Given the description of an element on the screen output the (x, y) to click on. 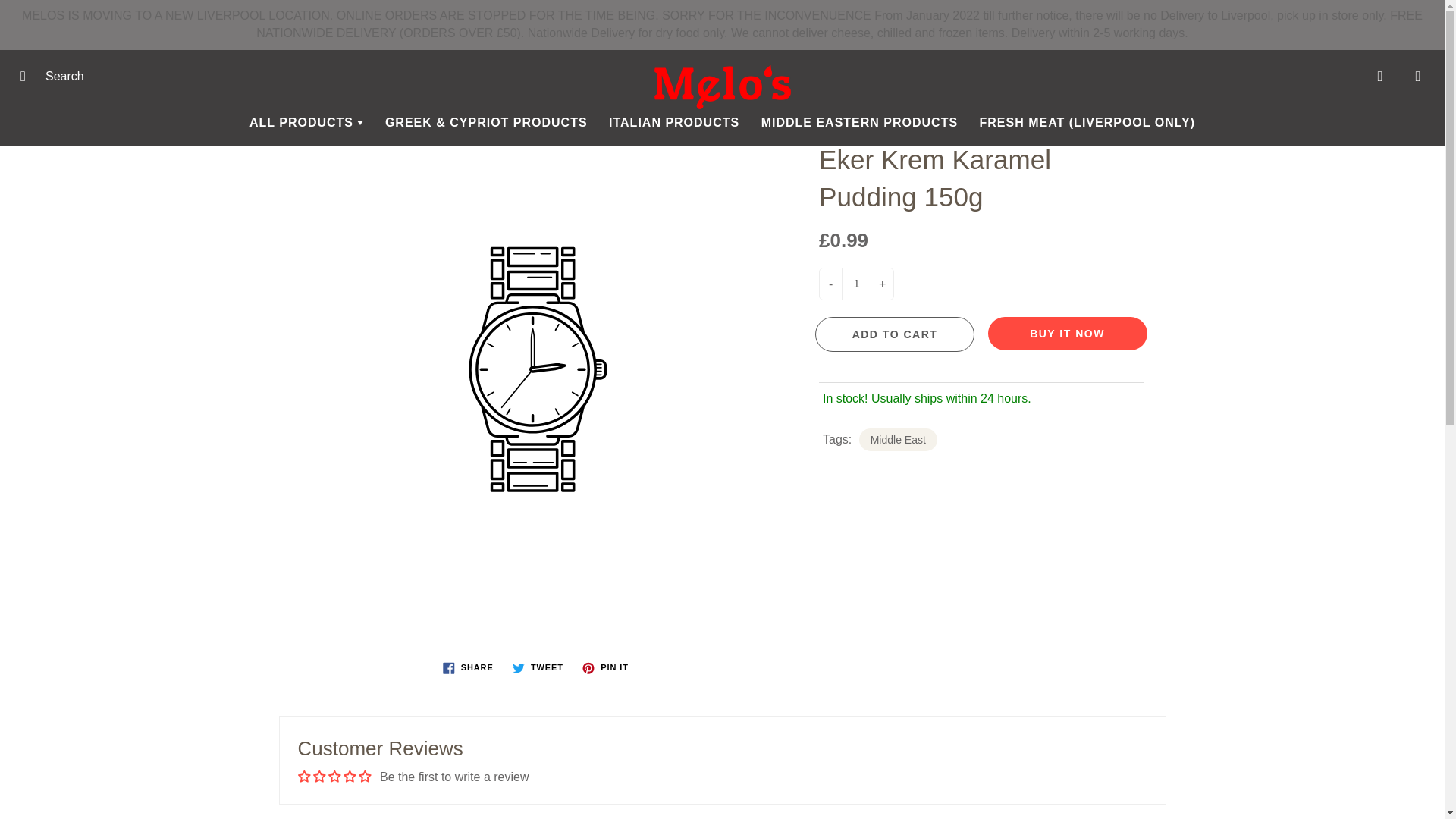
Pin on Pinterest (604, 668)
Home (552, 94)
You have 0 items in your cart (1417, 76)
Tweet on Twitter (537, 668)
My account (1379, 76)
Share on Facebook (467, 668)
Search (28, 76)
ALL PRODUCTS (306, 122)
1 (855, 283)
